Given the description of an element on the screen output the (x, y) to click on. 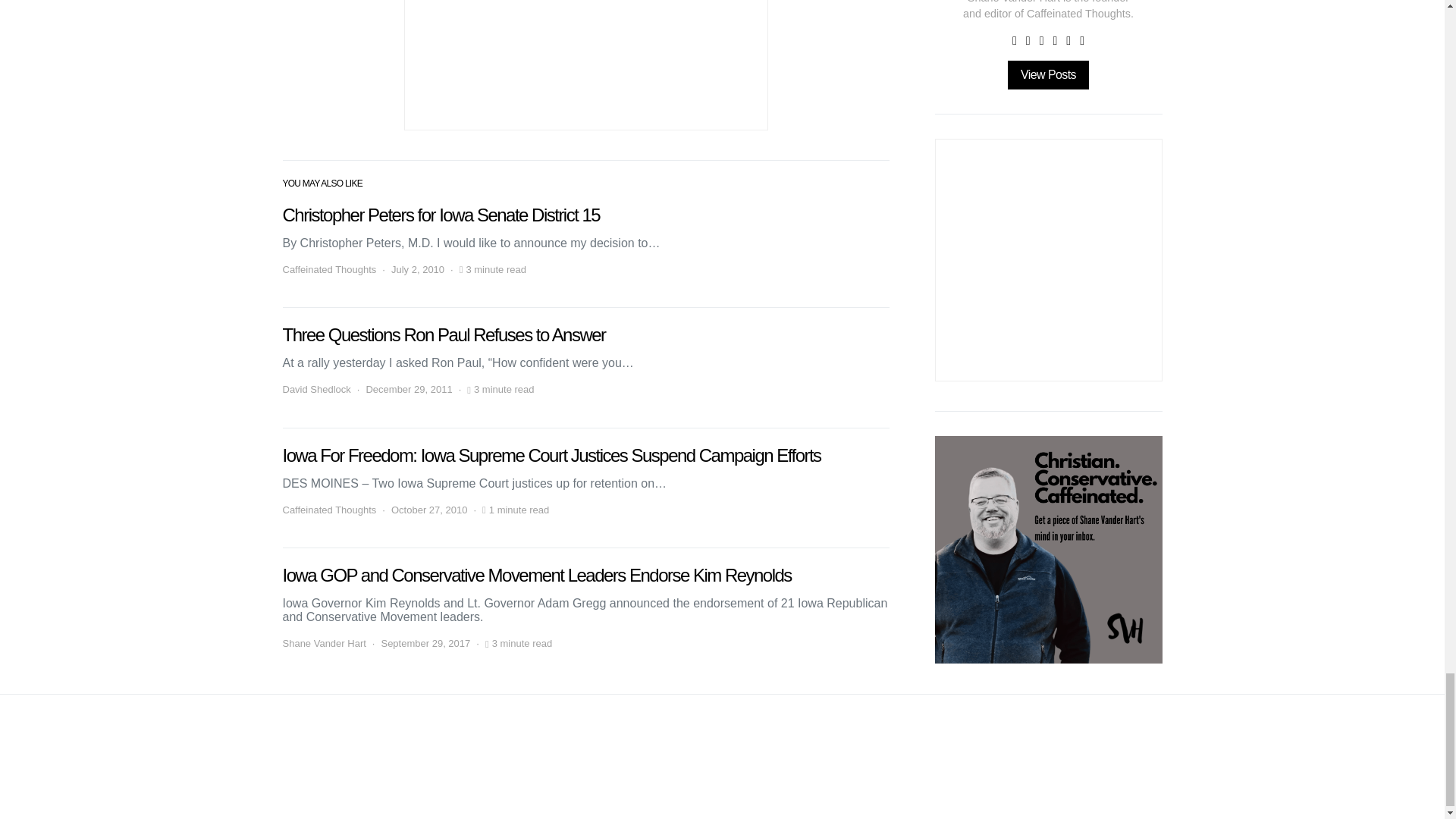
View all posts by Shane Vander Hart (323, 643)
View all posts by Caffeinated Thoughts (328, 269)
View all posts by Caffeinated Thoughts (328, 509)
View all posts by David Shedlock (316, 389)
